Given the description of an element on the screen output the (x, y) to click on. 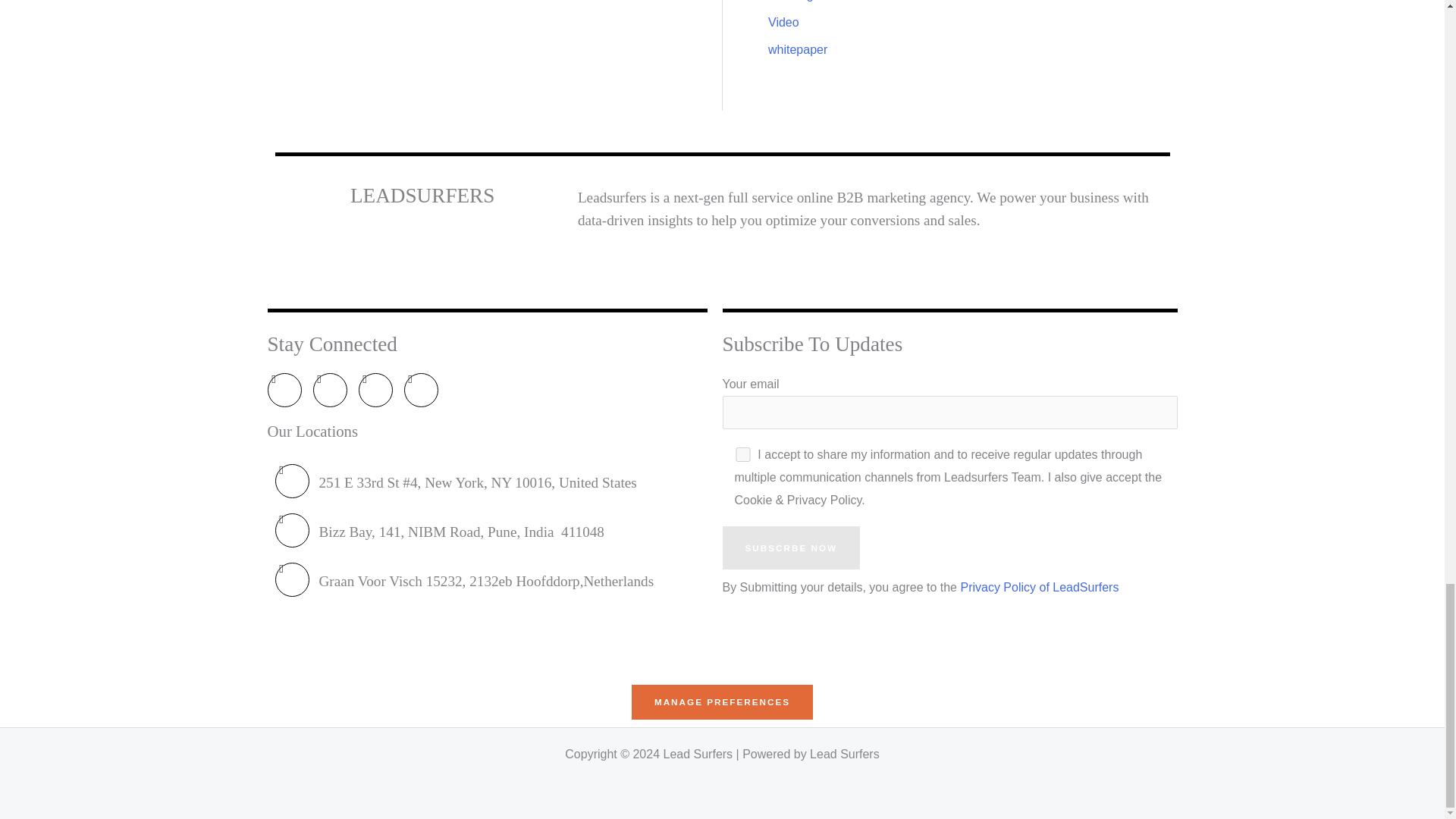
Subscrbe Now (791, 547)
1 (742, 454)
